Given the description of an element on the screen output the (x, y) to click on. 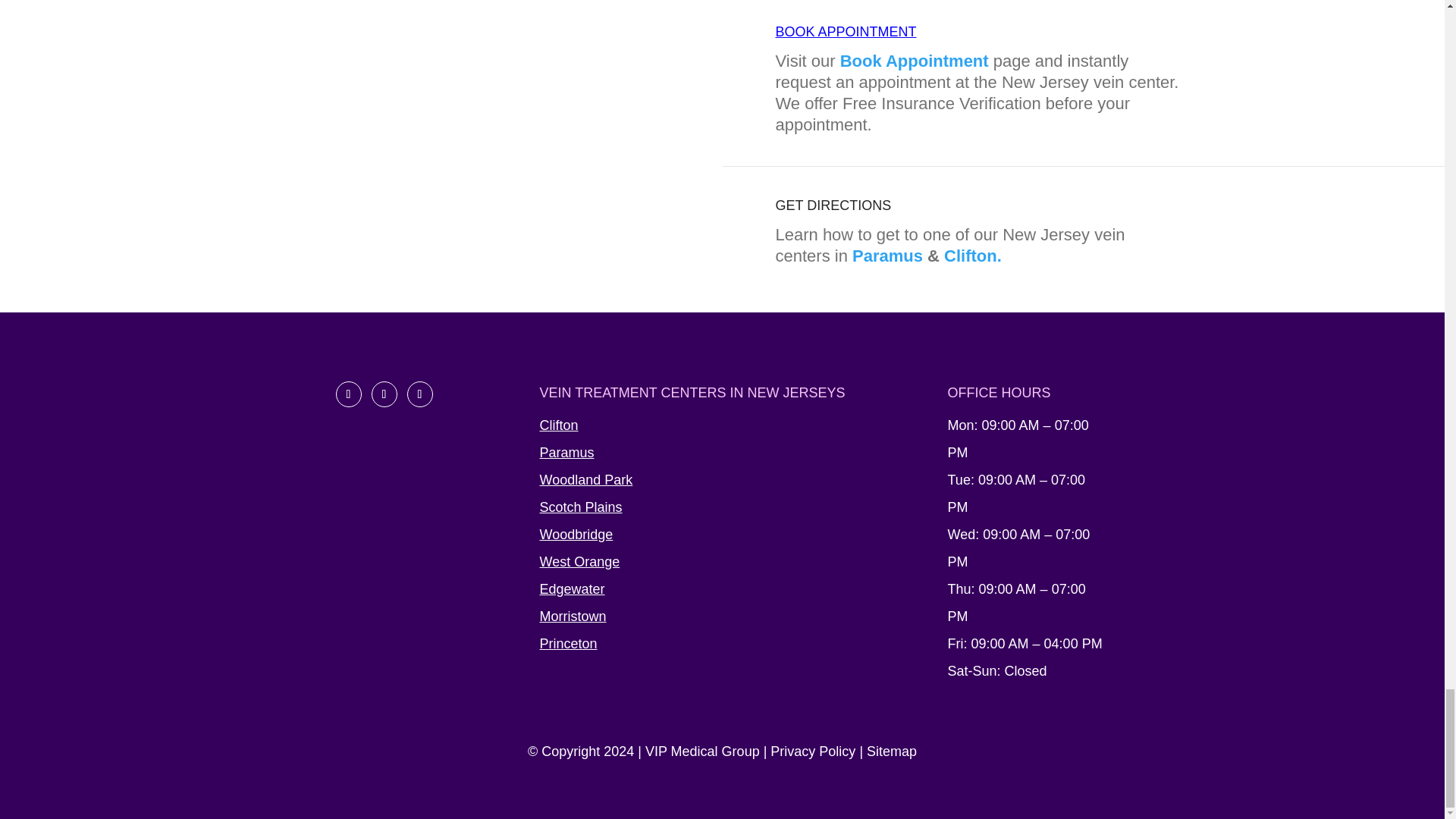
Follow on Facebook (347, 394)
Follow on Youtube (419, 394)
Follow on google-plus (384, 394)
